Given the description of an element on the screen output the (x, y) to click on. 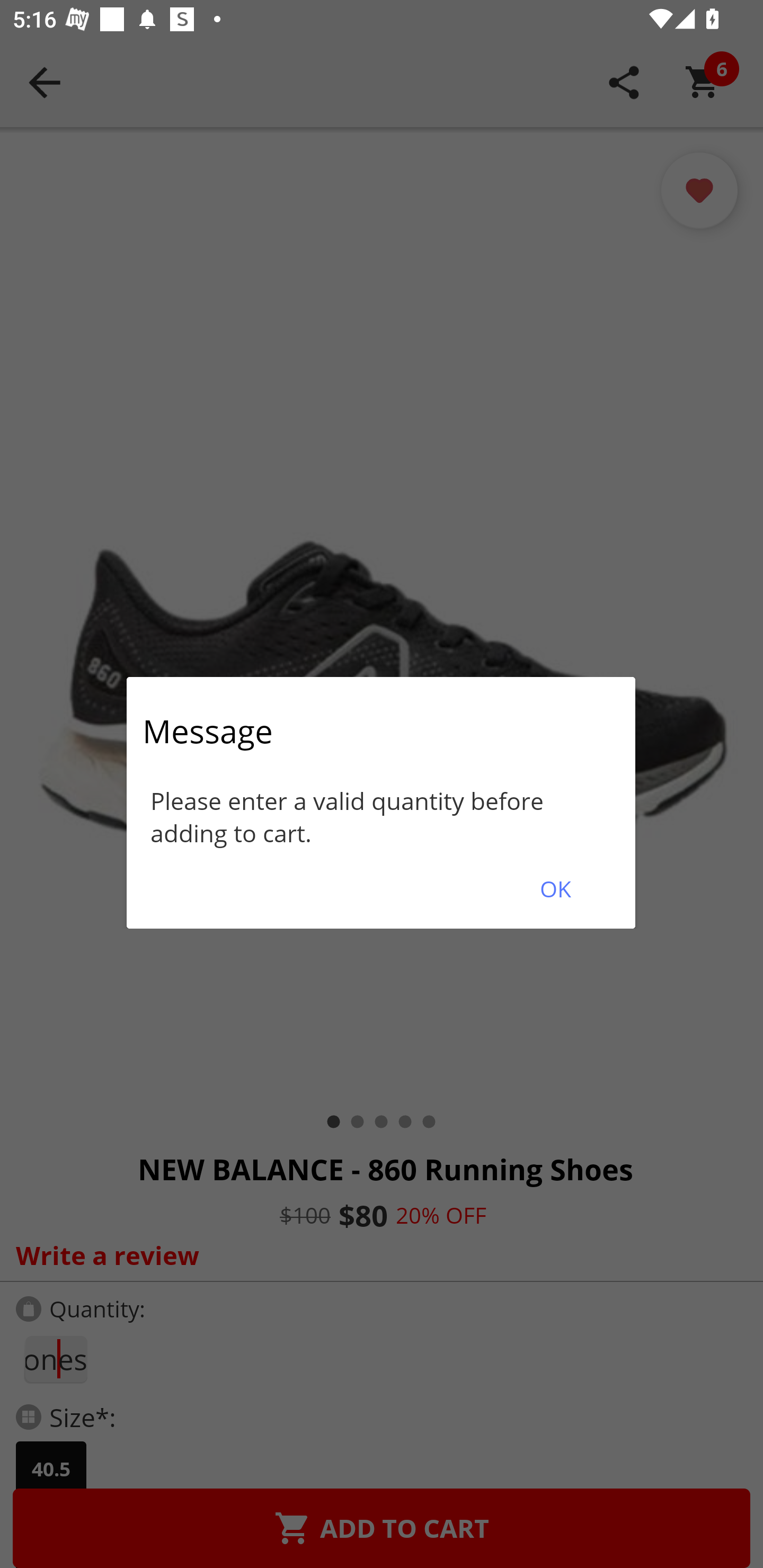
OK (555, 888)
